Given the description of an element on the screen output the (x, y) to click on. 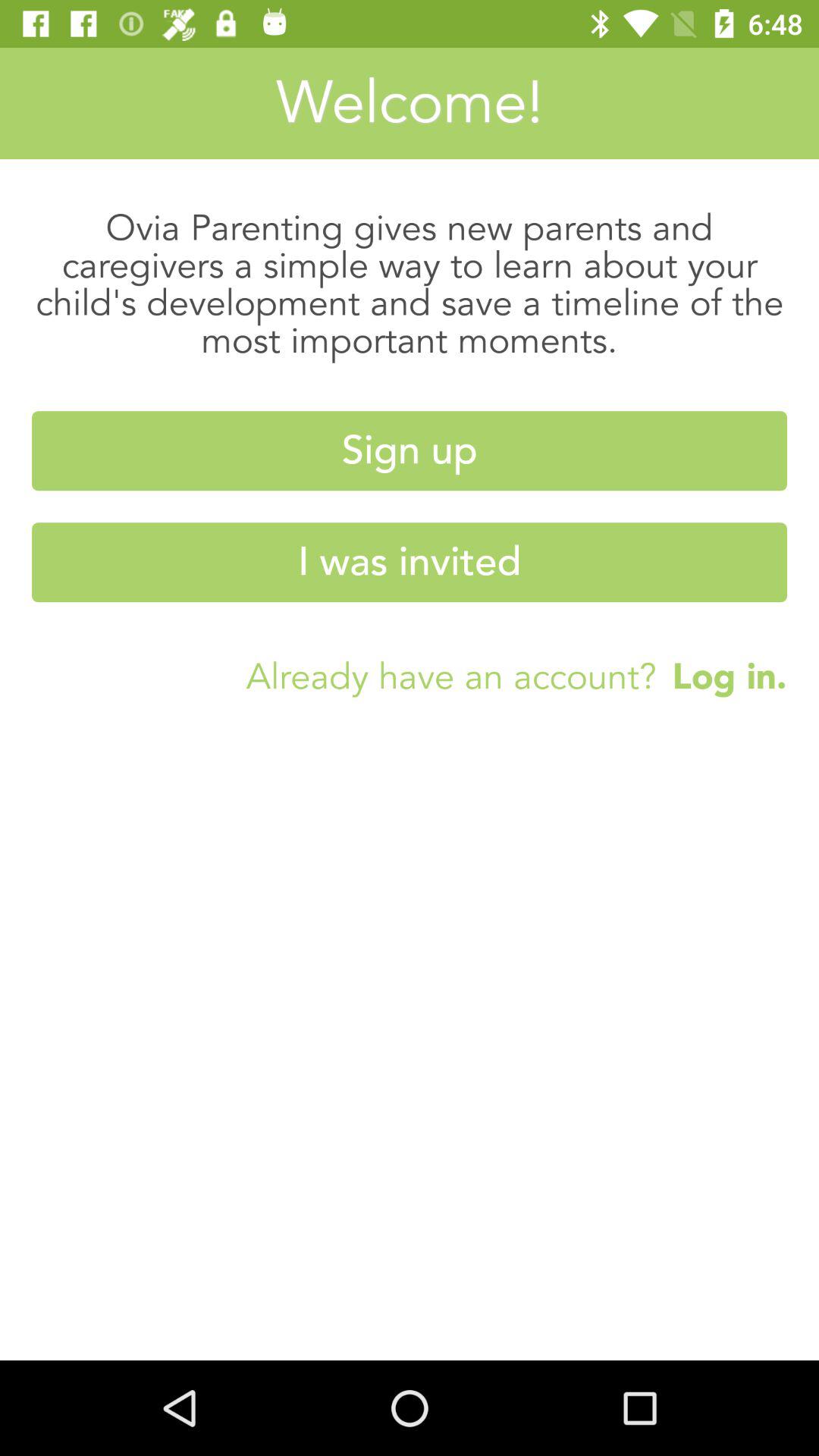
jump to log in. (721, 675)
